Given the description of an element on the screen output the (x, y) to click on. 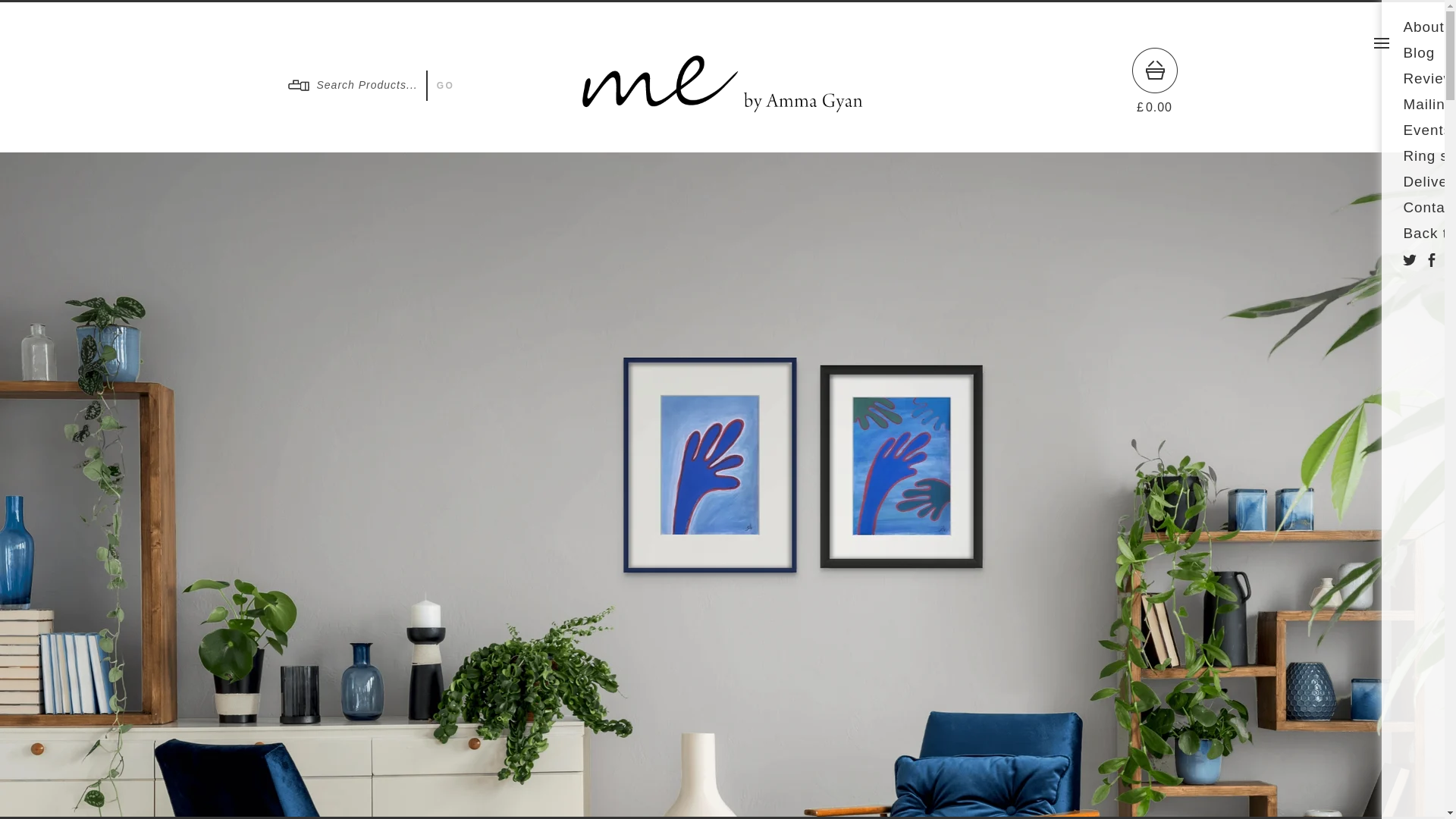
Menu (1381, 42)
GO (443, 85)
GO (443, 85)
Search Products... (351, 84)
Me by Amma Gyan (722, 106)
Blog (1418, 52)
Search Products... (351, 84)
View Blog (1418, 52)
